Given the description of an element on the screen output the (x, y) to click on. 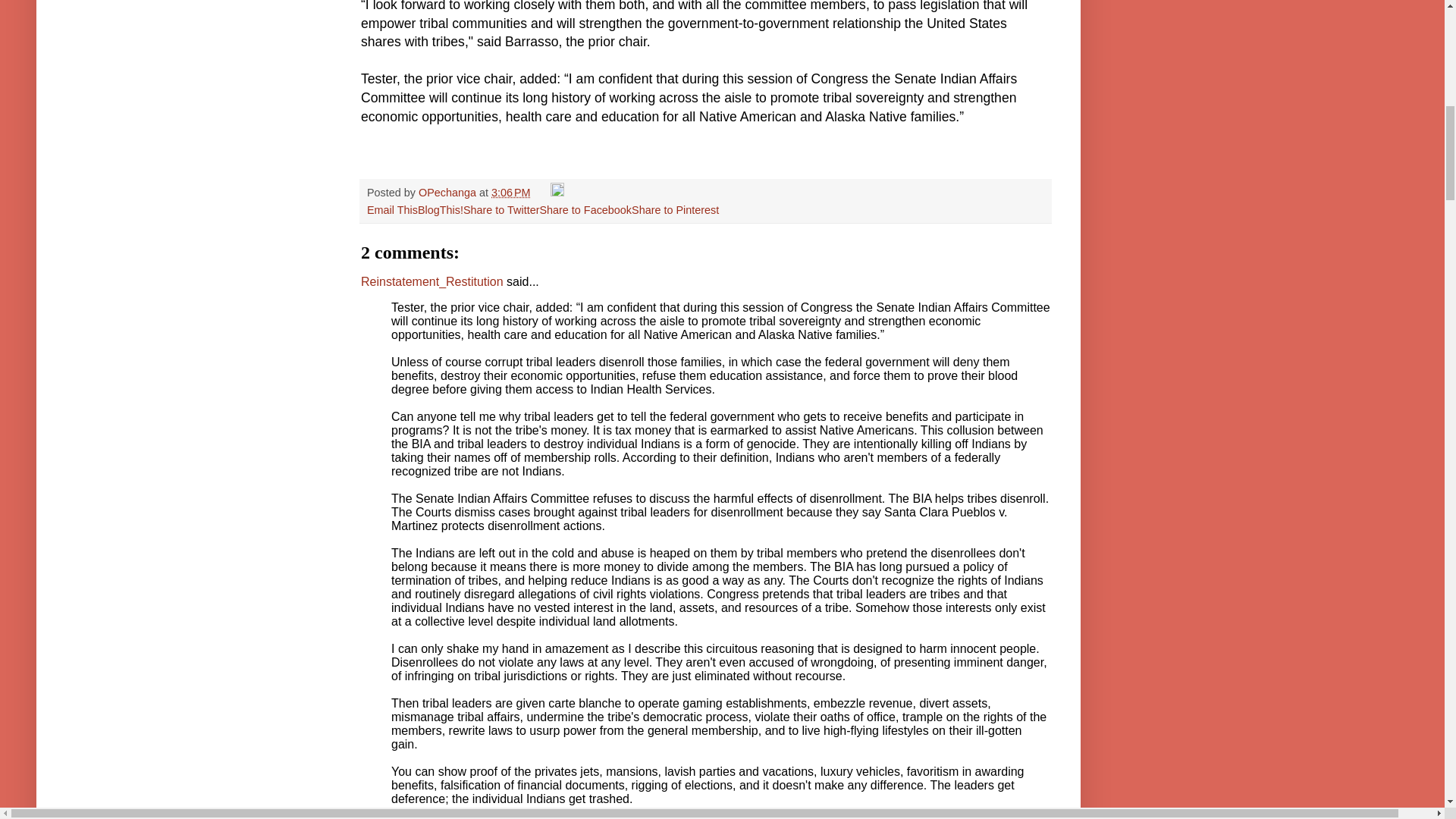
OPechanga (449, 192)
Email This (391, 209)
Share to Twitter (501, 209)
BlogThis! (440, 209)
Share to Twitter (501, 209)
Share to Pinterest (675, 209)
Share to Facebook (584, 209)
Email This (391, 209)
Edit Post (557, 192)
Share to Facebook (584, 209)
BlogThis! (440, 209)
Email Post (542, 192)
permanent link (511, 192)
Share to Pinterest (675, 209)
